Given the description of an element on the screen output the (x, y) to click on. 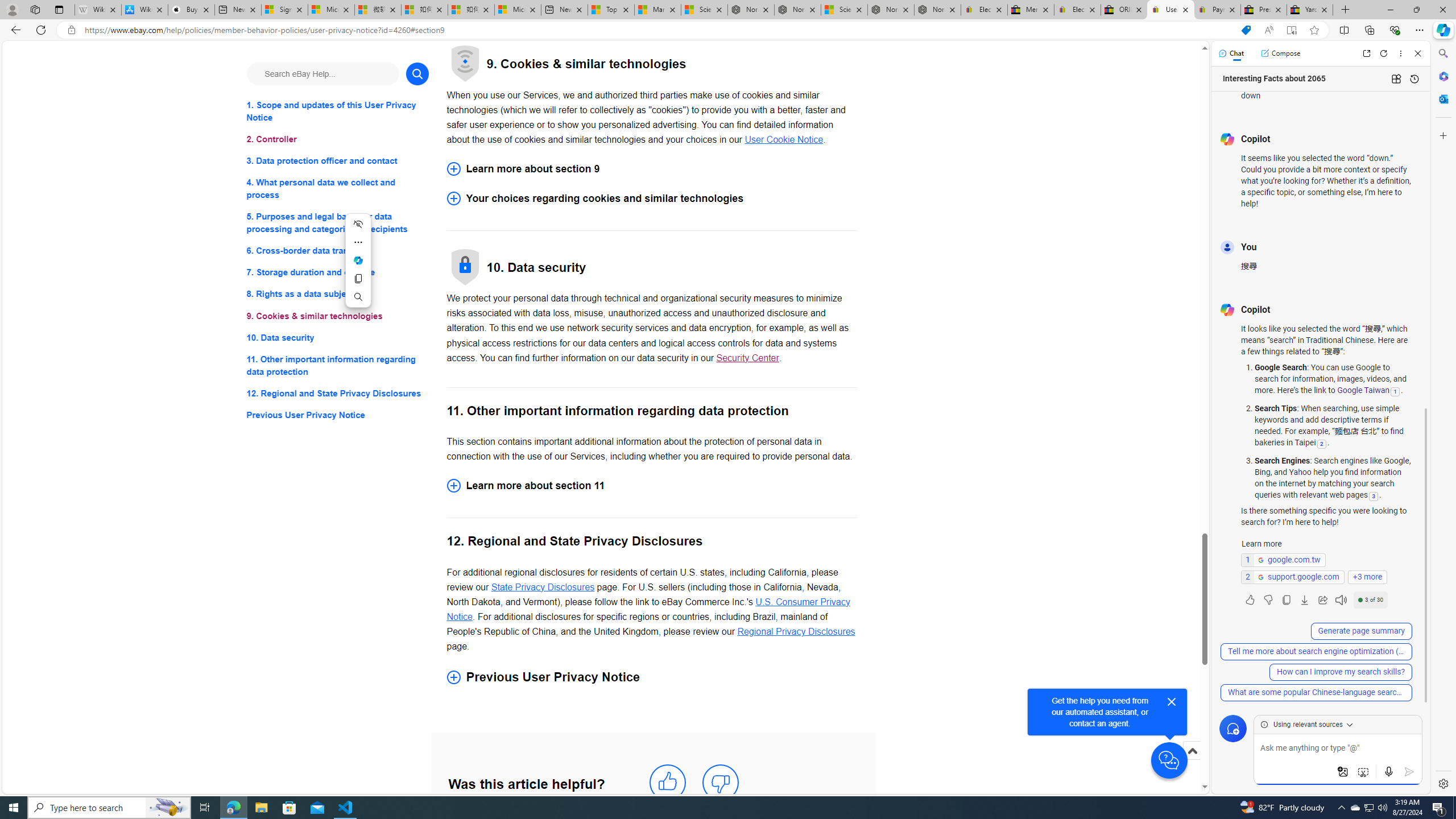
Scroll to top (1191, 750)
11. Other important information regarding data protection (337, 365)
mark this article helpful (667, 782)
Compose (1280, 52)
12. Regional and State Privacy Disclosures (337, 392)
10. Data security (337, 336)
Your choices regarding cookies and similar technologies (651, 198)
Regional Privacy Disclosures - opens in new window or tab (796, 631)
8. Rights as a data subject (337, 293)
Ask Copilot (358, 260)
State Privacy Disclosures - opens in new window or tab (542, 586)
